Given the description of an element on the screen output the (x, y) to click on. 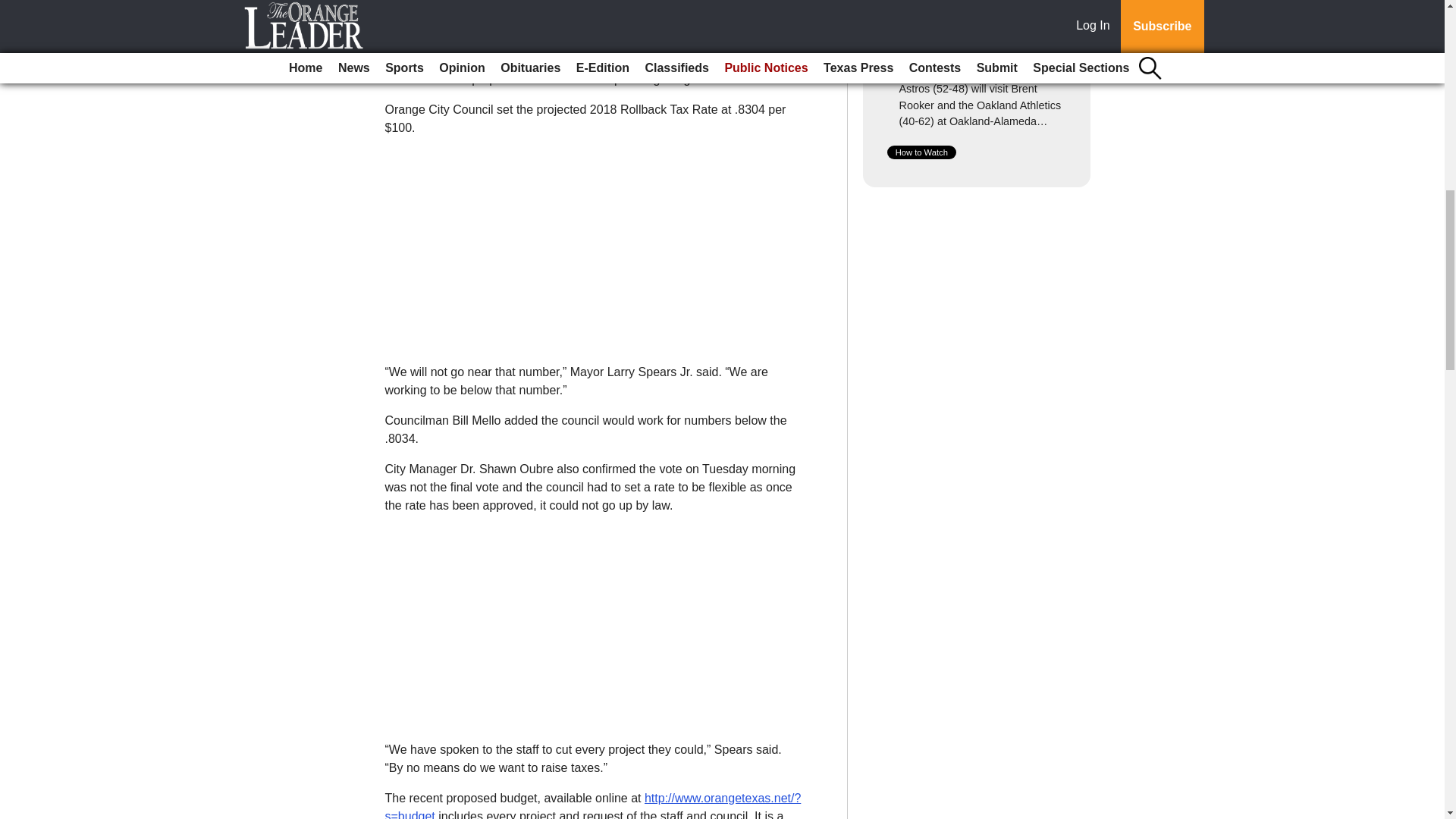
How to Watch (921, 151)
Astros vs. Athletics: Betting Preview for July 23 (970, 44)
